Given the description of an element on the screen output the (x, y) to click on. 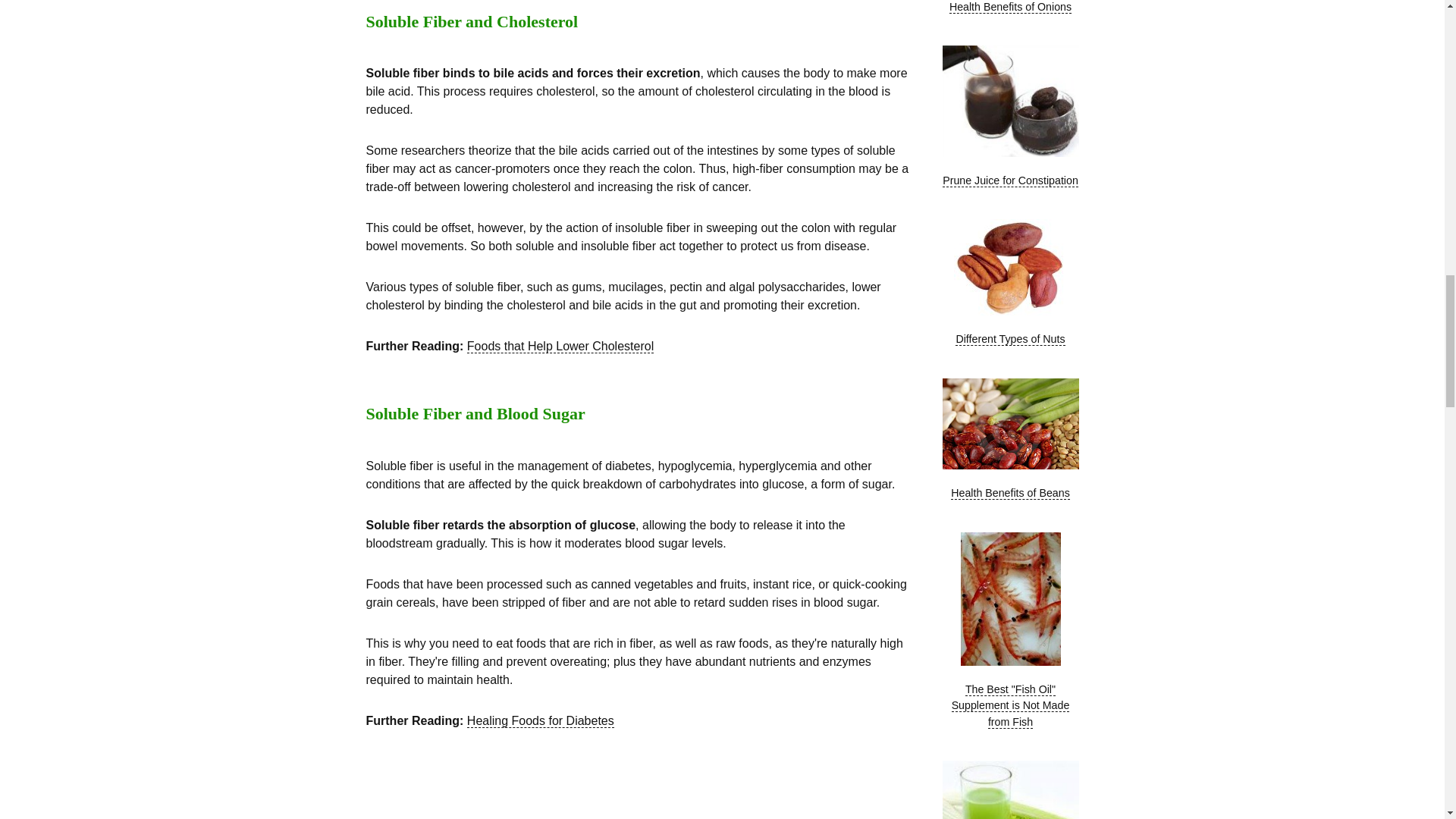
Celery Health Benefits (1010, 789)
Go to Prune Juice for Constipation and Other Health Benefits (1010, 152)
Prunes and Prune Juice for Constipation (1010, 101)
Go to Different types of nuts (1010, 311)
Go to Health Benefits of Beans (1010, 465)
Go to The Best Fish Oil Supplement is Not Made from Fish (1009, 662)
Different Types of Nuts (1010, 267)
Health Benefits of Beans (1010, 424)
